Given the description of an element on the screen output the (x, y) to click on. 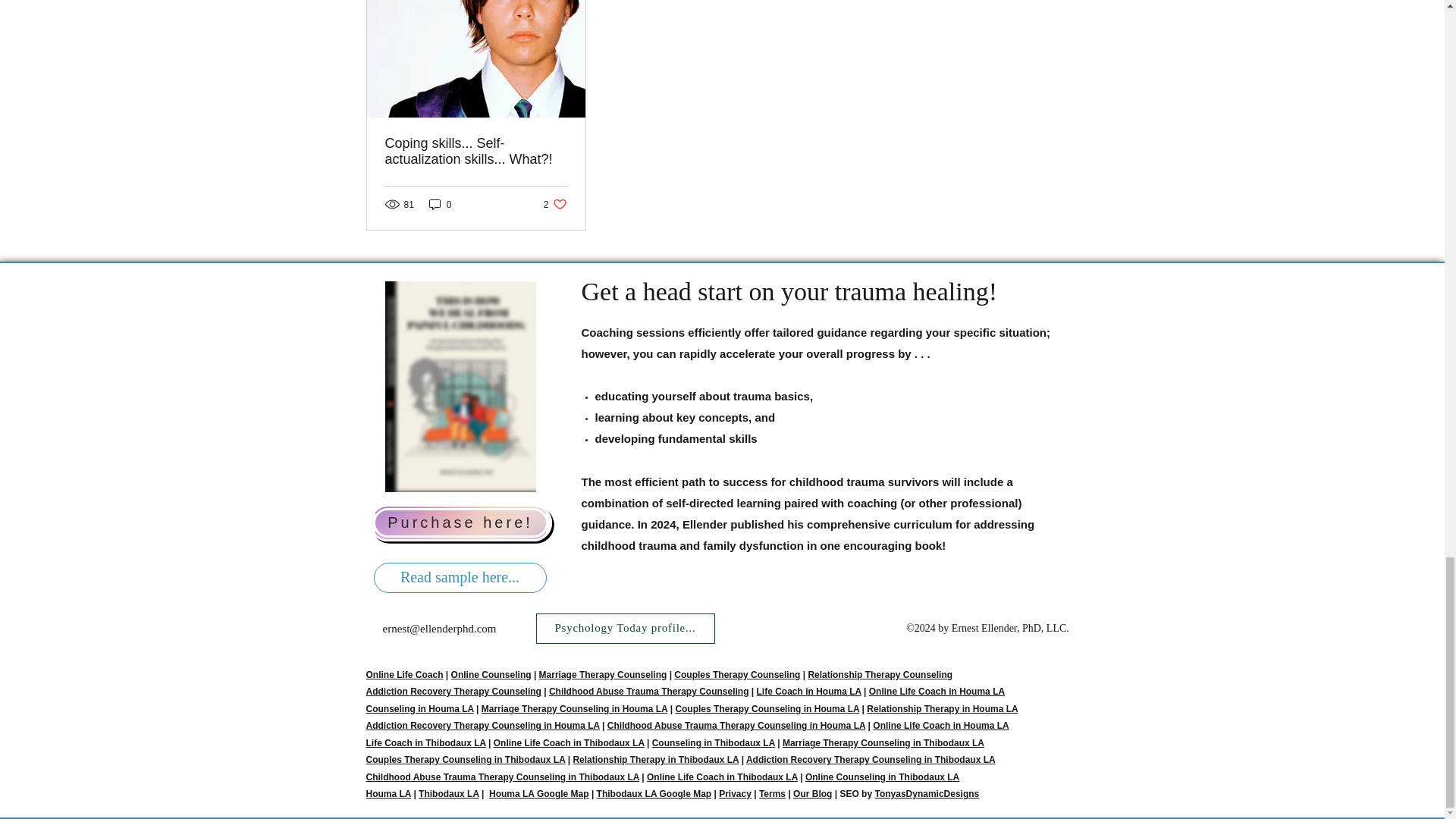
Purchase here! (459, 522)
Read sample here... (459, 577)
Psychology Today profile... (624, 628)
Coping skills... Self-actualization skills... What?! (476, 151)
0 (440, 204)
